Given the description of an element on the screen output the (x, y) to click on. 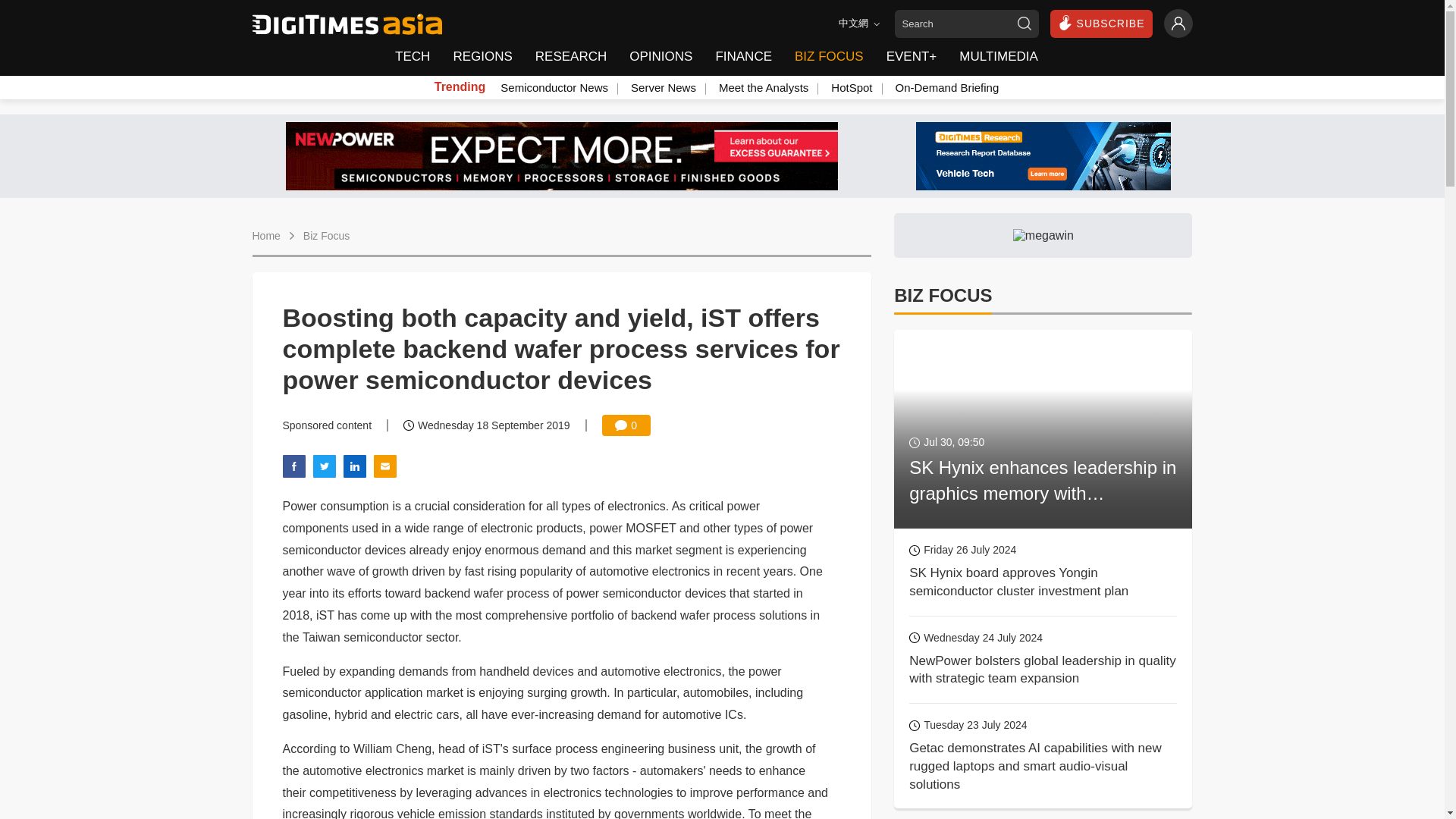
TECH (417, 56)
RESEARCH (570, 56)
SUBSCRIBE (1101, 22)
REGIONS (481, 56)
